Given the description of an element on the screen output the (x, y) to click on. 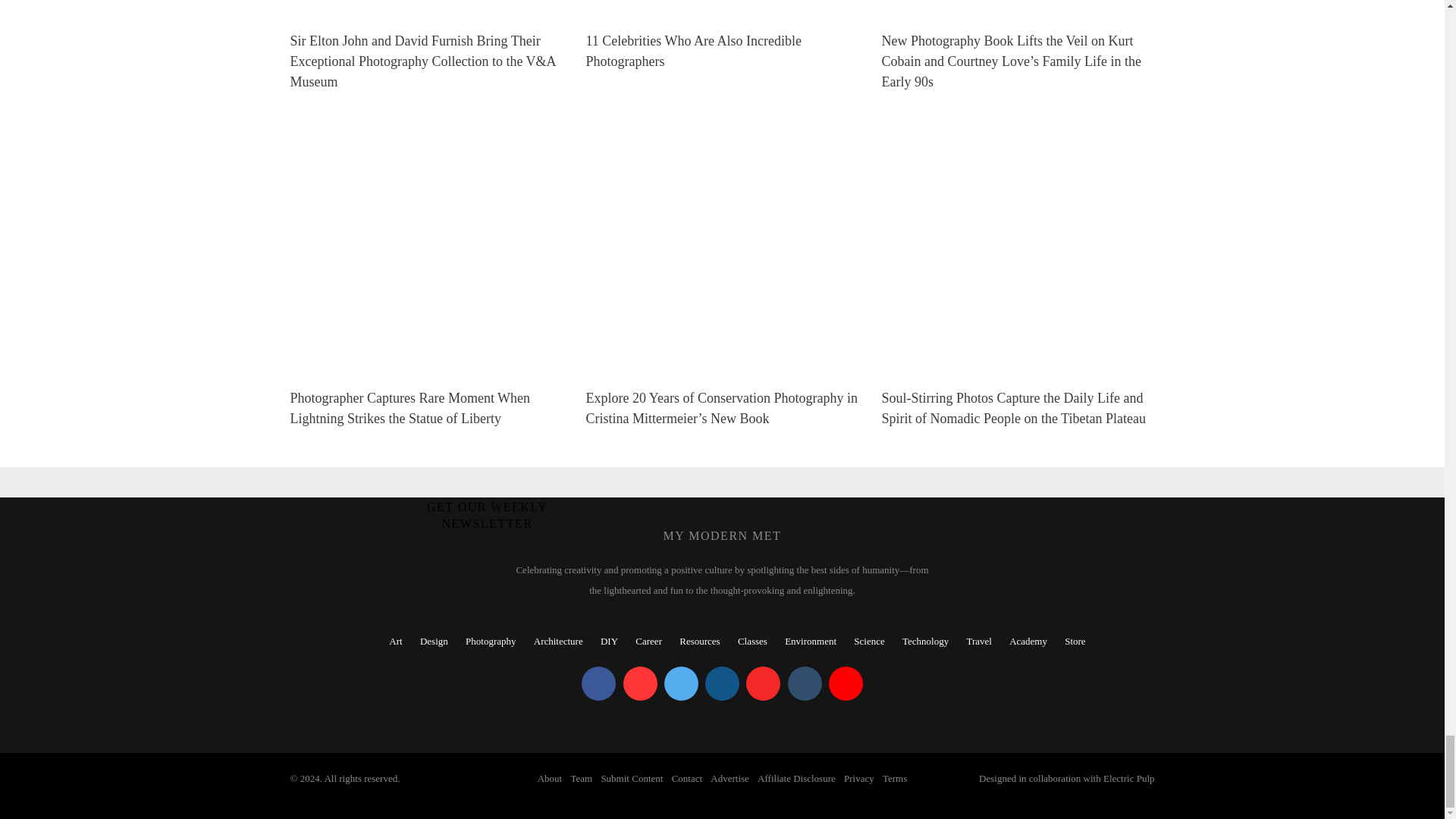
My Modern Met on Instagram (721, 683)
My Modern Met on Pinterest (640, 683)
My Modern Met on Twitter (680, 683)
My Modern Met on Facebook (597, 683)
My Modern Met on Tumblr (804, 683)
My Modern Met on YouTube (845, 683)
